Given the description of an element on the screen output the (x, y) to click on. 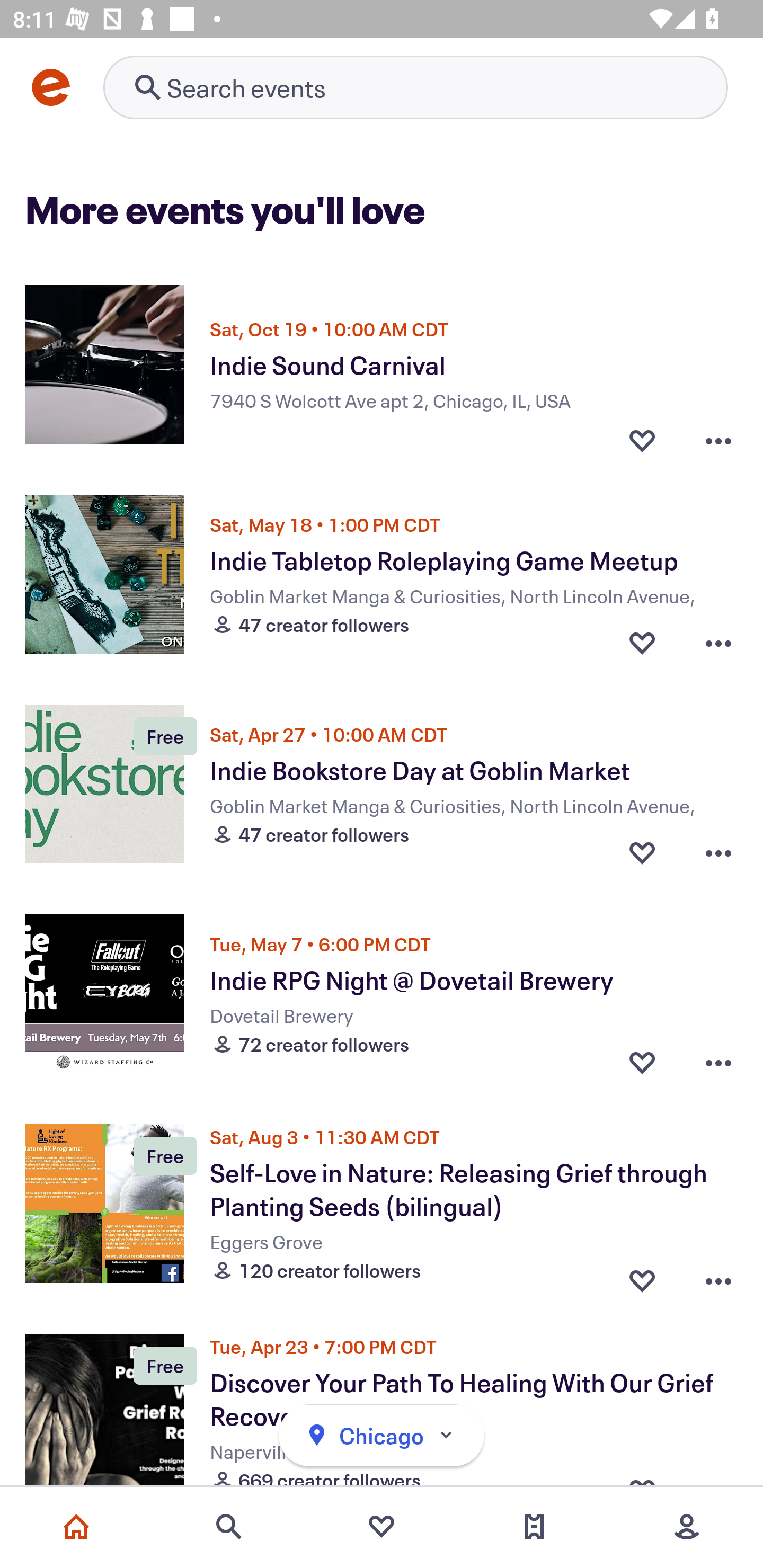
Retry's image Search events (415, 86)
Favorite button (642, 435)
Overflow menu button (718, 435)
Favorite button (642, 641)
Overflow menu button (718, 641)
Favorite button (642, 852)
Overflow menu button (718, 852)
Favorite button (642, 1062)
Overflow menu button (718, 1062)
Favorite button (642, 1275)
Overflow menu button (718, 1275)
Chicago (381, 1435)
Home (76, 1526)
Search events (228, 1526)
Favorites (381, 1526)
Tickets (533, 1526)
More (686, 1526)
